Given the description of an element on the screen output the (x, y) to click on. 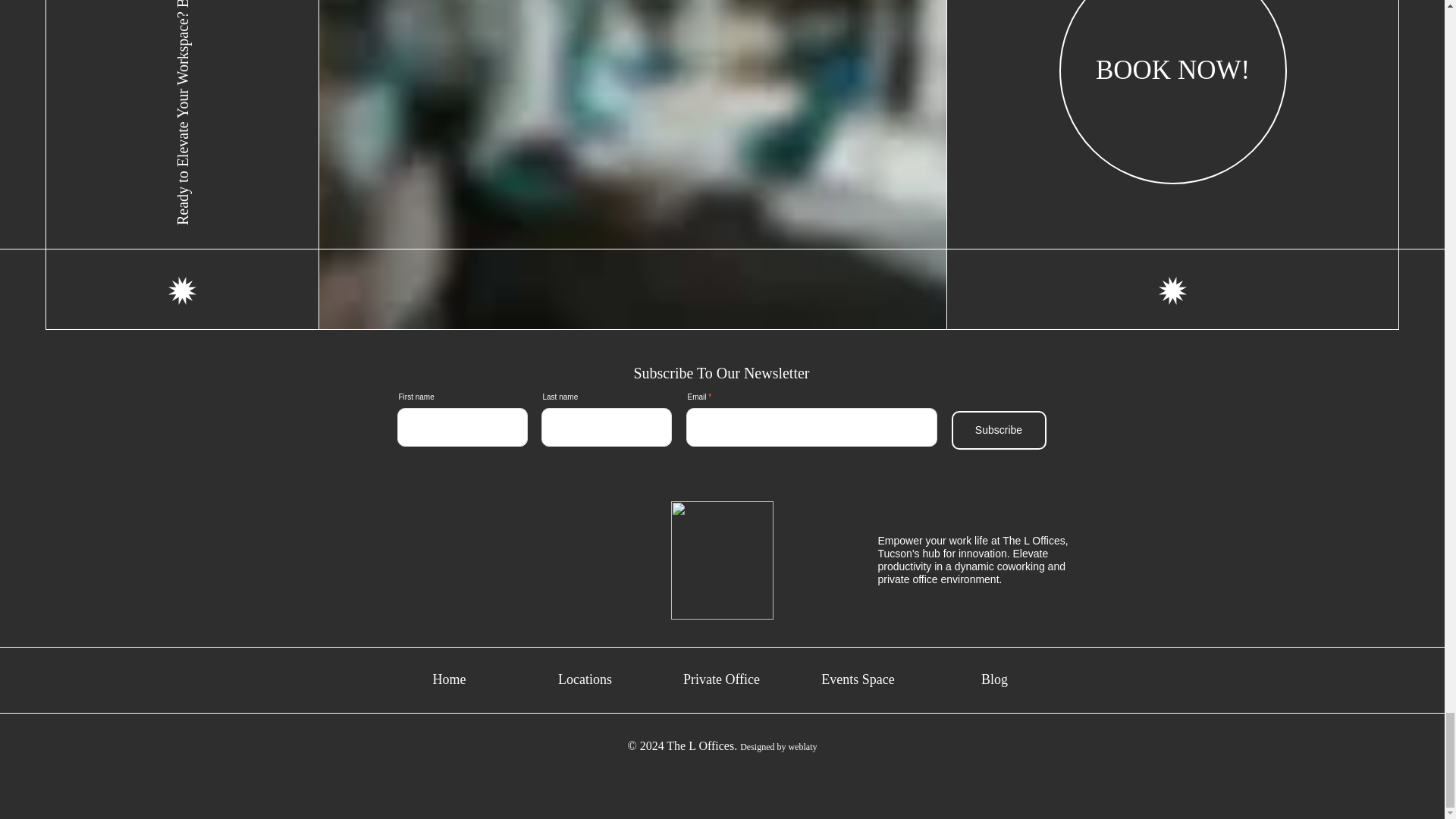
Blog (994, 679)
Events Space (857, 679)
Private Office (720, 679)
BOOK NOW! (1173, 92)
Subscribe (997, 430)
Home (449, 679)
Locations (585, 679)
